Given the description of an element on the screen output the (x, y) to click on. 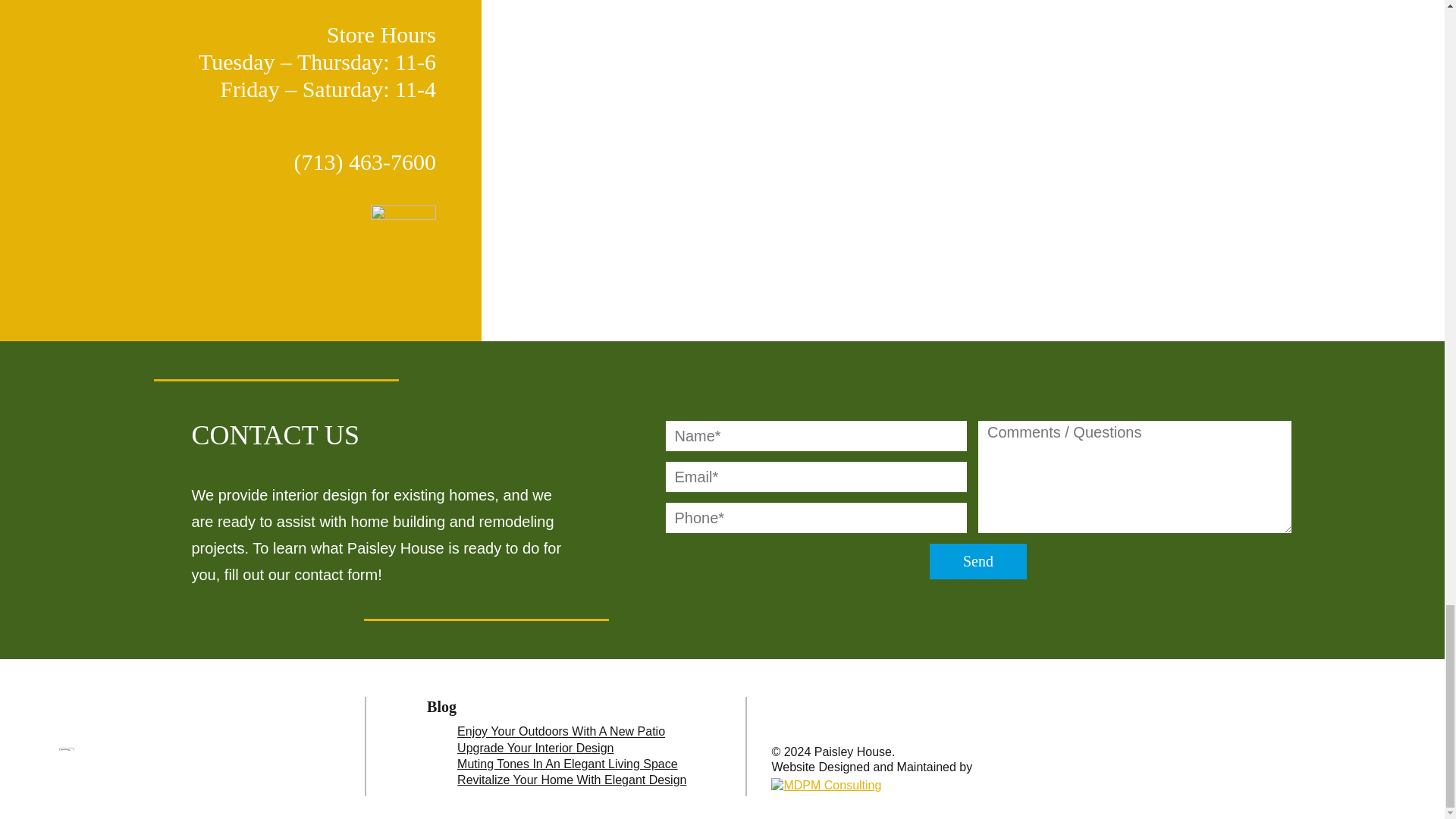
Send (978, 561)
Upgrade Your Interior Design (534, 748)
Enjoy Your Outdoors With A New Patio (561, 731)
Revitalize Your Home With Elegant Design (571, 779)
Send (978, 561)
Muting Tones In An Elegant Living Space (567, 763)
